Given the description of an element on the screen output the (x, y) to click on. 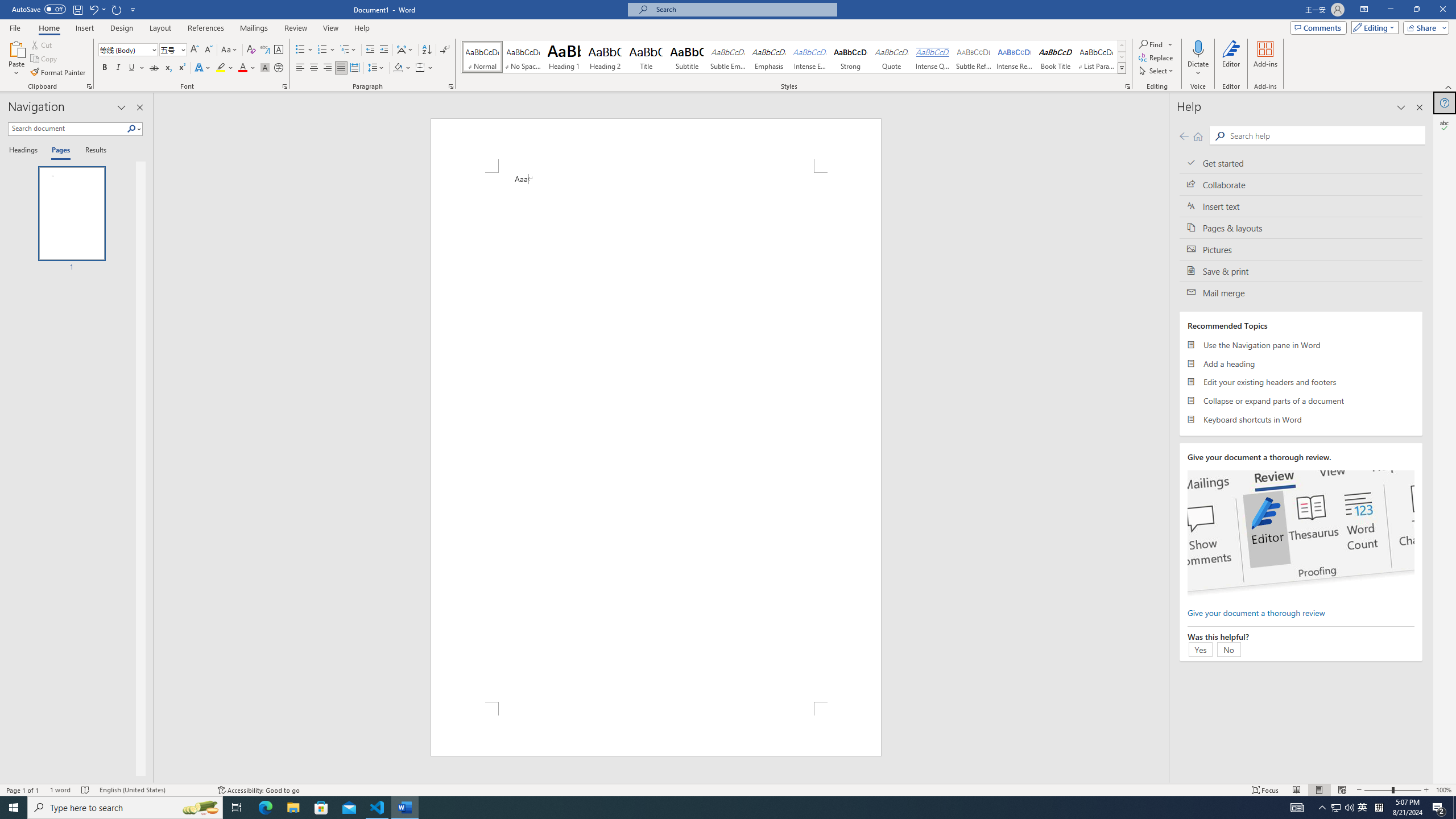
Collapse or expand parts of a document (1300, 400)
